Given the description of an element on the screen output the (x, y) to click on. 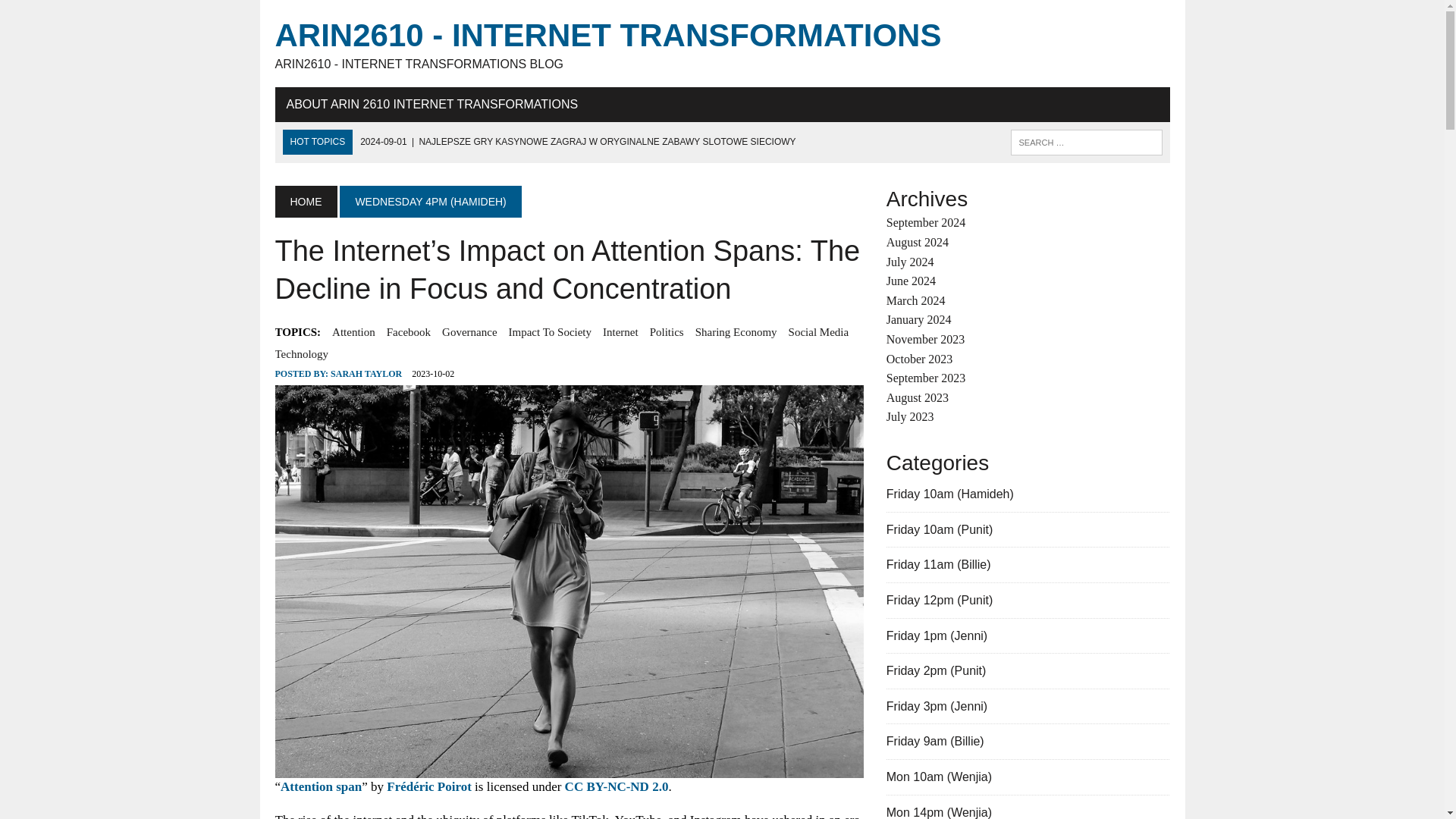
CC BY-NC-ND 2.0 (616, 786)
Search (75, 14)
Attention (353, 331)
ARIN2610 - Internet Transformations (722, 43)
Attention span (321, 786)
Social Media (818, 331)
Technology (302, 353)
Governance (469, 331)
Internet (620, 331)
HOME (305, 201)
